Given the description of an element on the screen output the (x, y) to click on. 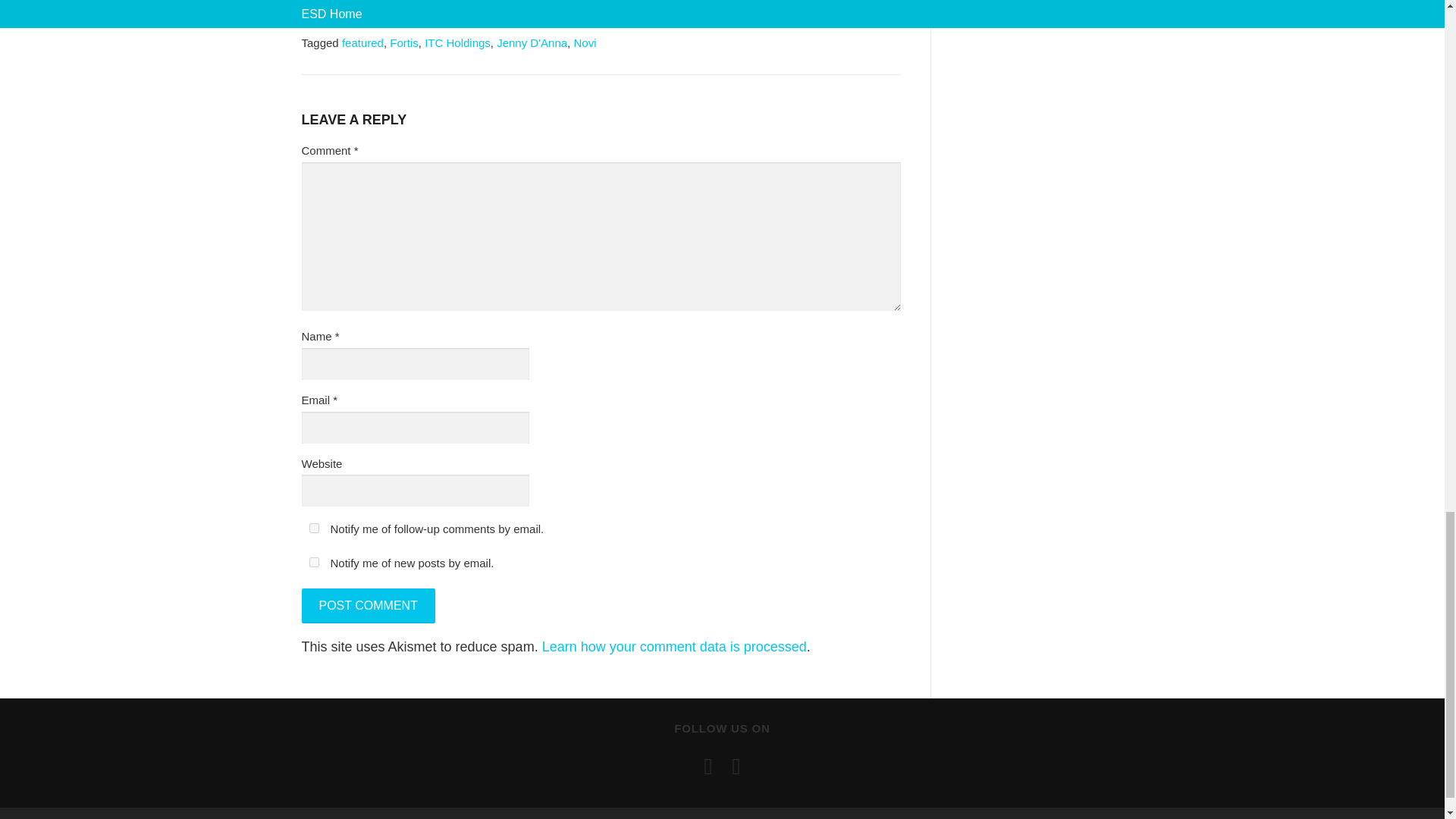
Post Comment (368, 605)
subscribe (313, 528)
Electric Grid (382, 21)
Utilities (438, 21)
Fortis (404, 42)
Novi (584, 42)
ITC Holdings (457, 42)
featured (363, 42)
Jenny D'Anna (531, 42)
Learn how your comment data is processed (673, 646)
